Given the description of an element on the screen output the (x, y) to click on. 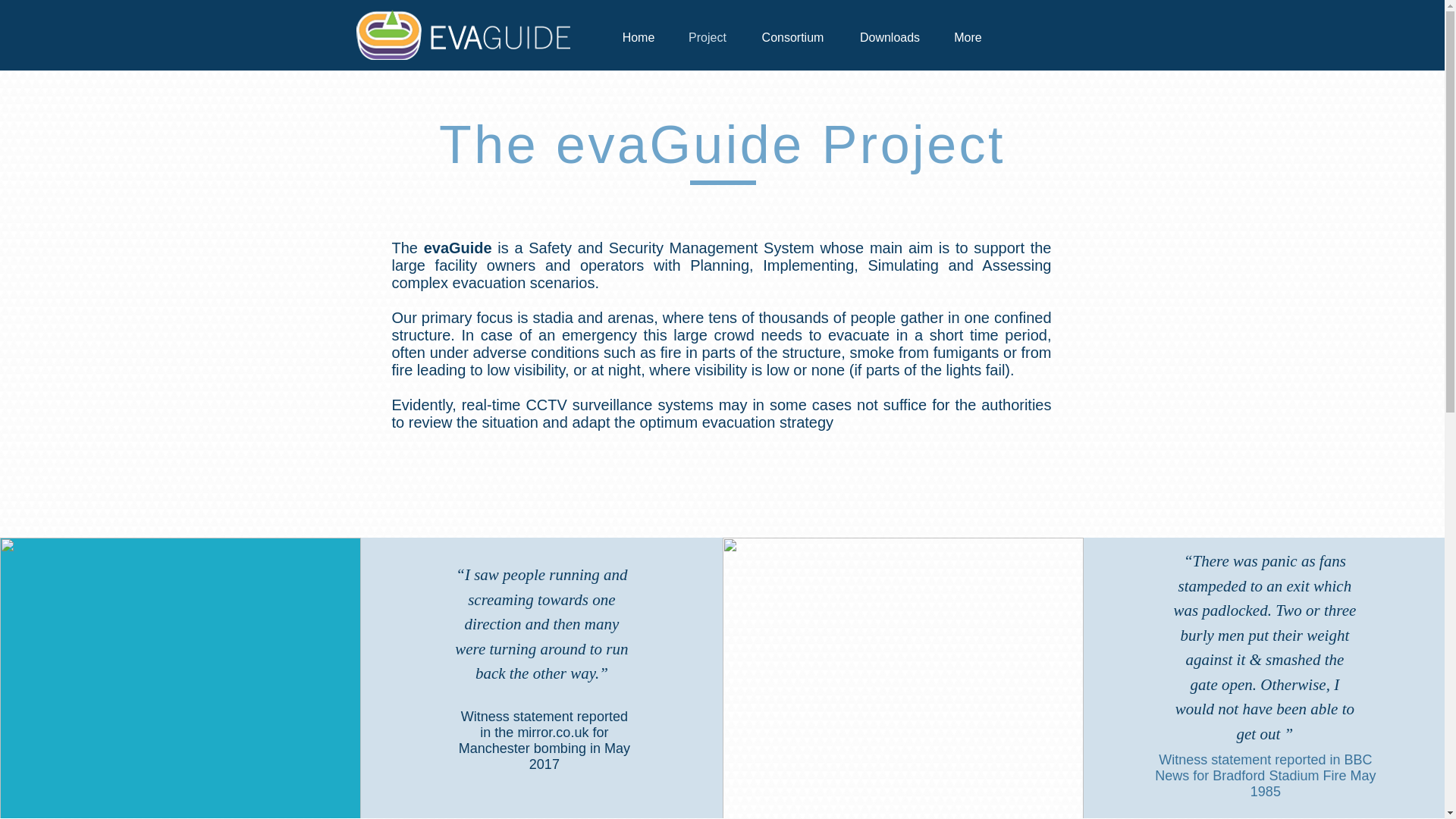
Consortium (791, 36)
Home (638, 36)
Project (707, 36)
Downloads (889, 36)
